Given the description of an element on the screen output the (x, y) to click on. 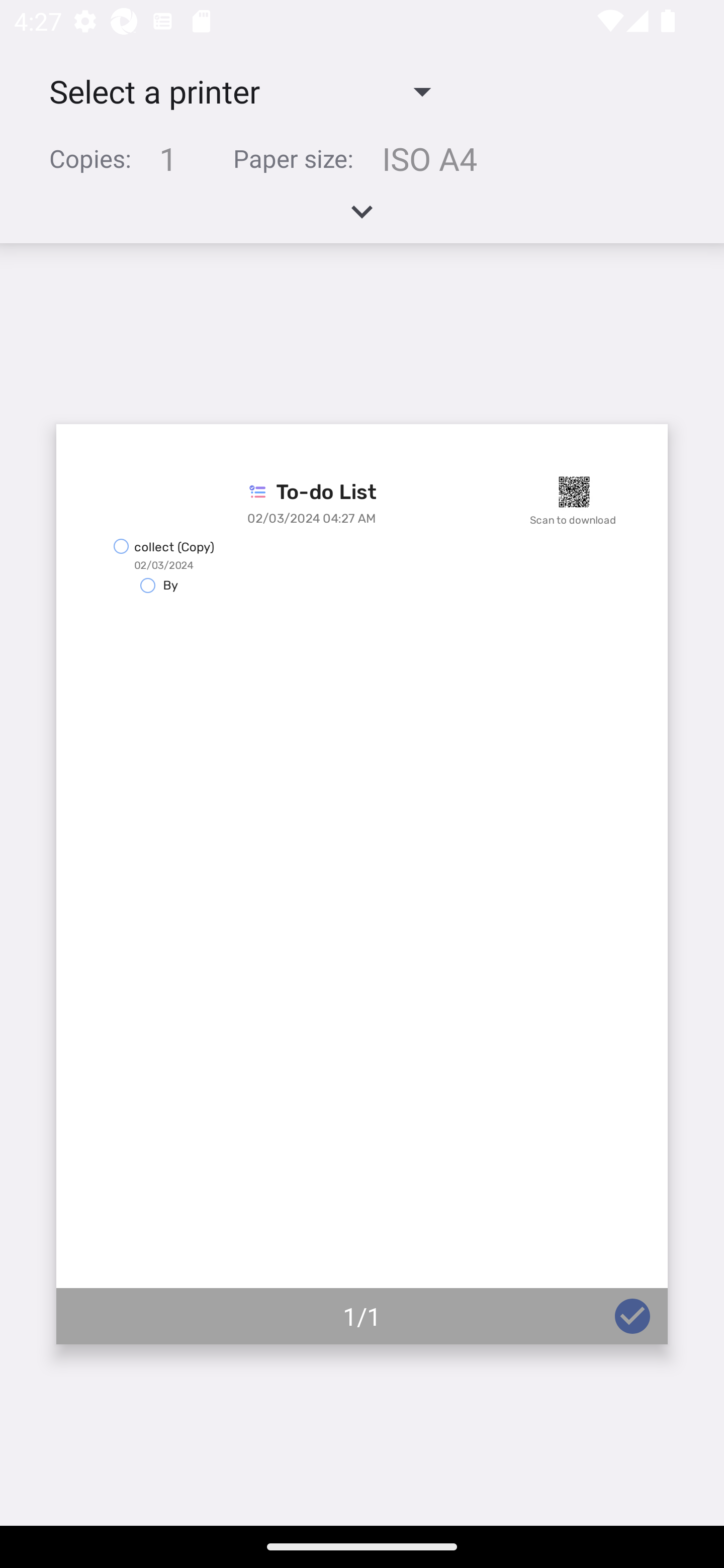
Select a printer (238, 90)
Expand handle (362, 218)
Page 1 of 1 1/1 (361, 883)
